Given the description of an element on the screen output the (x, y) to click on. 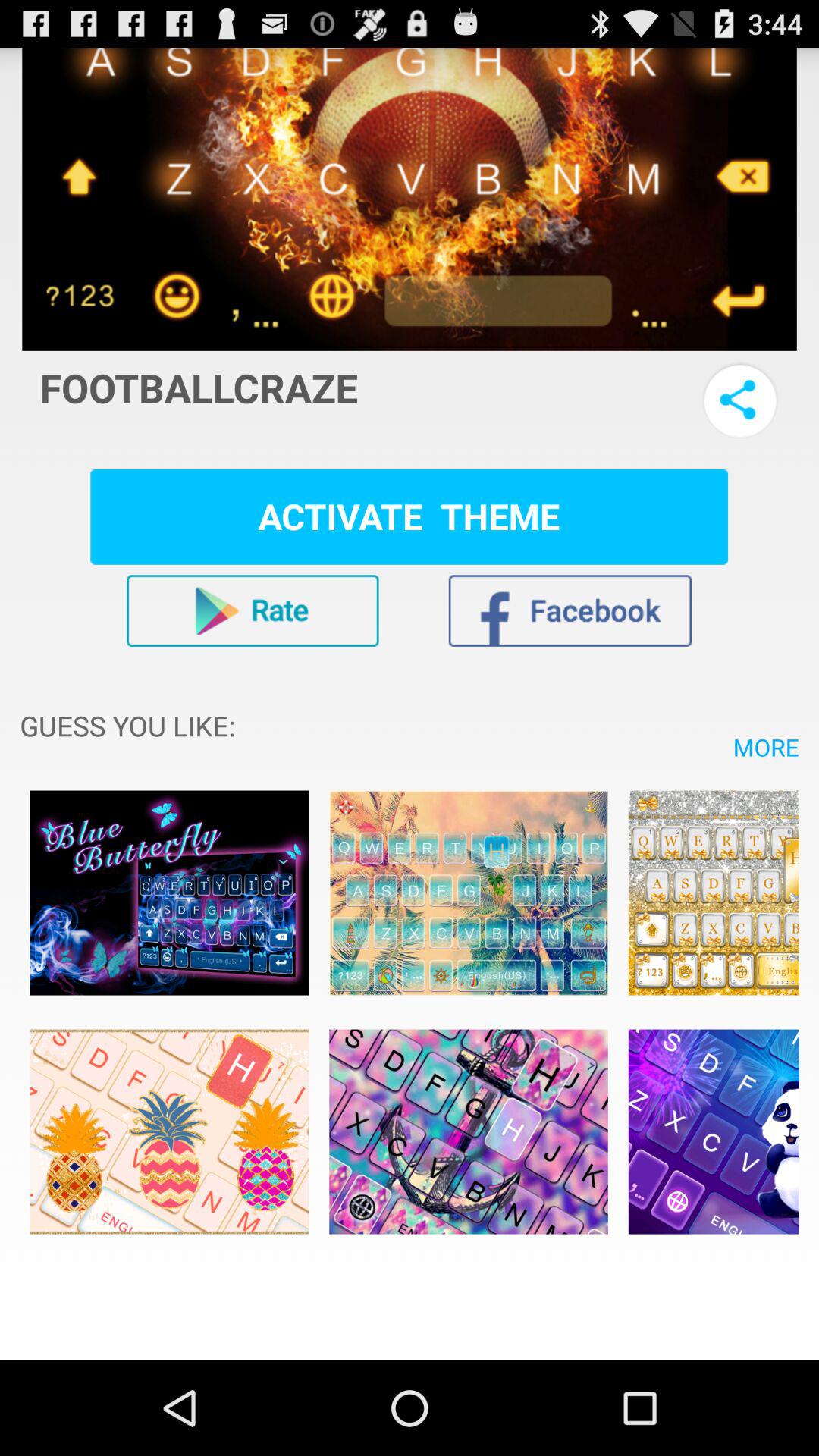
play button (252, 610)
